Given the description of an element on the screen output the (x, y) to click on. 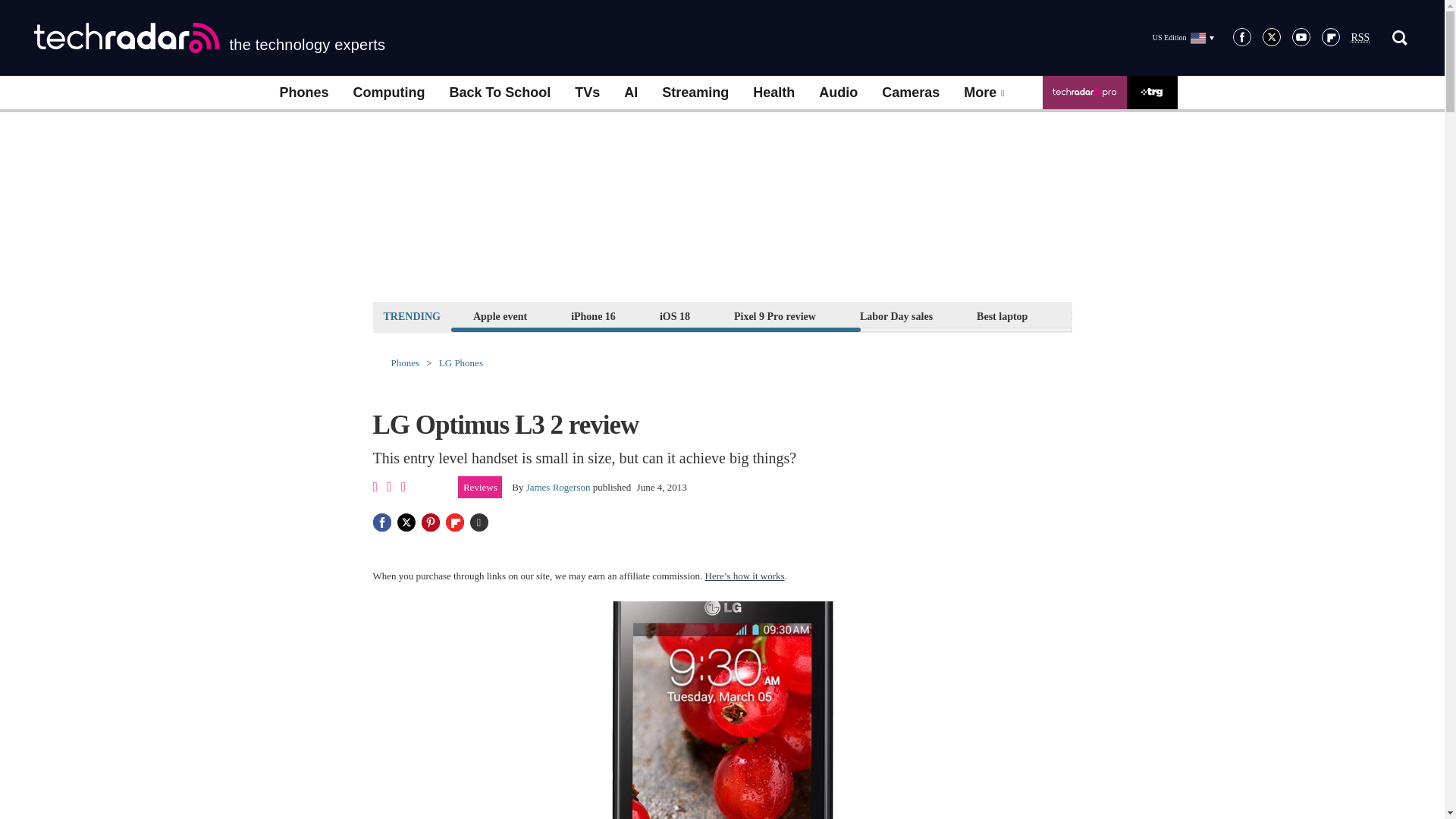
AI (630, 92)
the technology experts (209, 38)
Streaming (695, 92)
Really Simple Syndication (1360, 37)
US Edition (1182, 37)
Computing (389, 92)
Phones (303, 92)
Back To School (499, 92)
TVs (586, 92)
Health (773, 92)
